Given the description of an element on the screen output the (x, y) to click on. 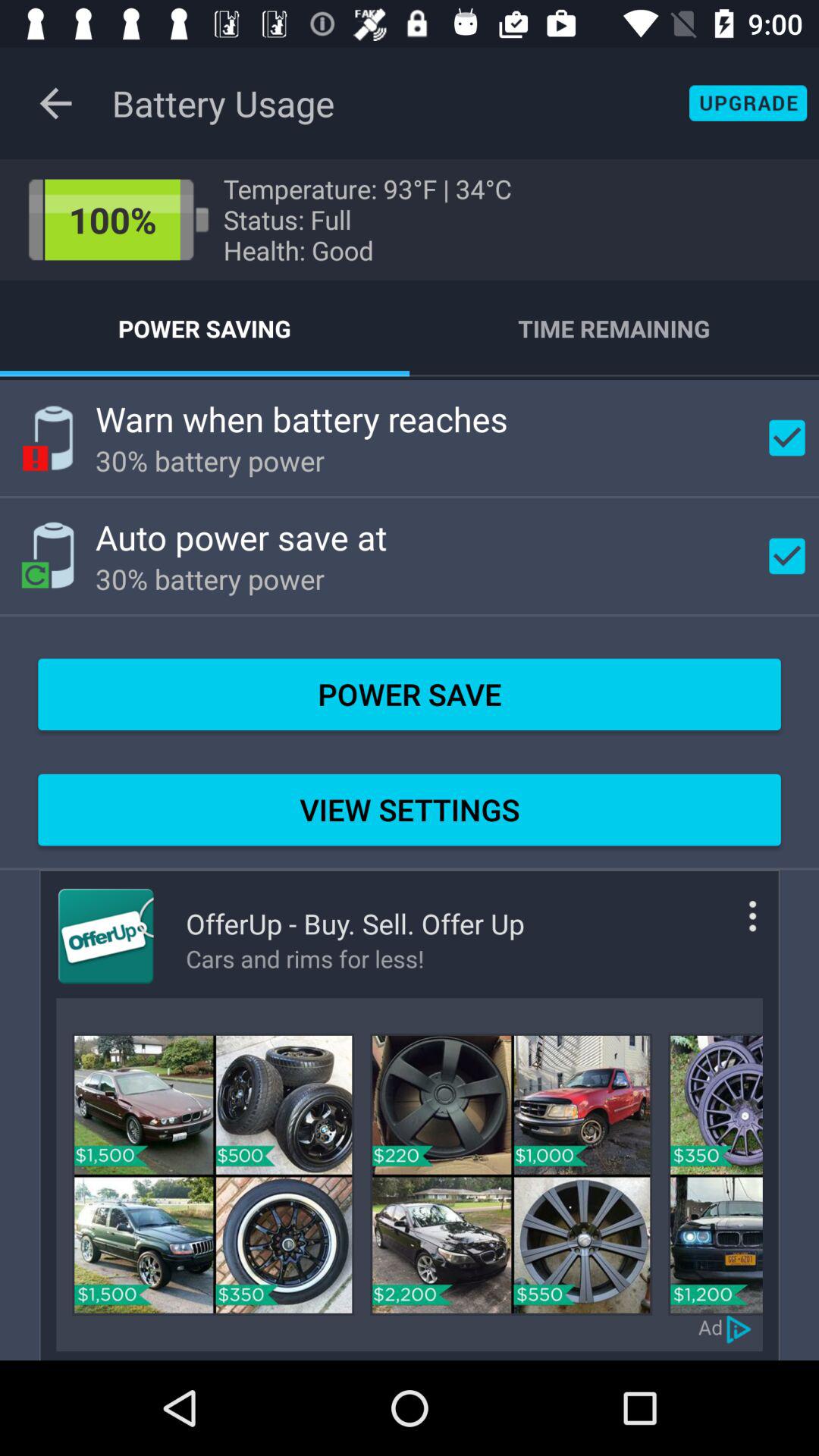
upgrade option (748, 103)
